Given the description of an element on the screen output the (x, y) to click on. 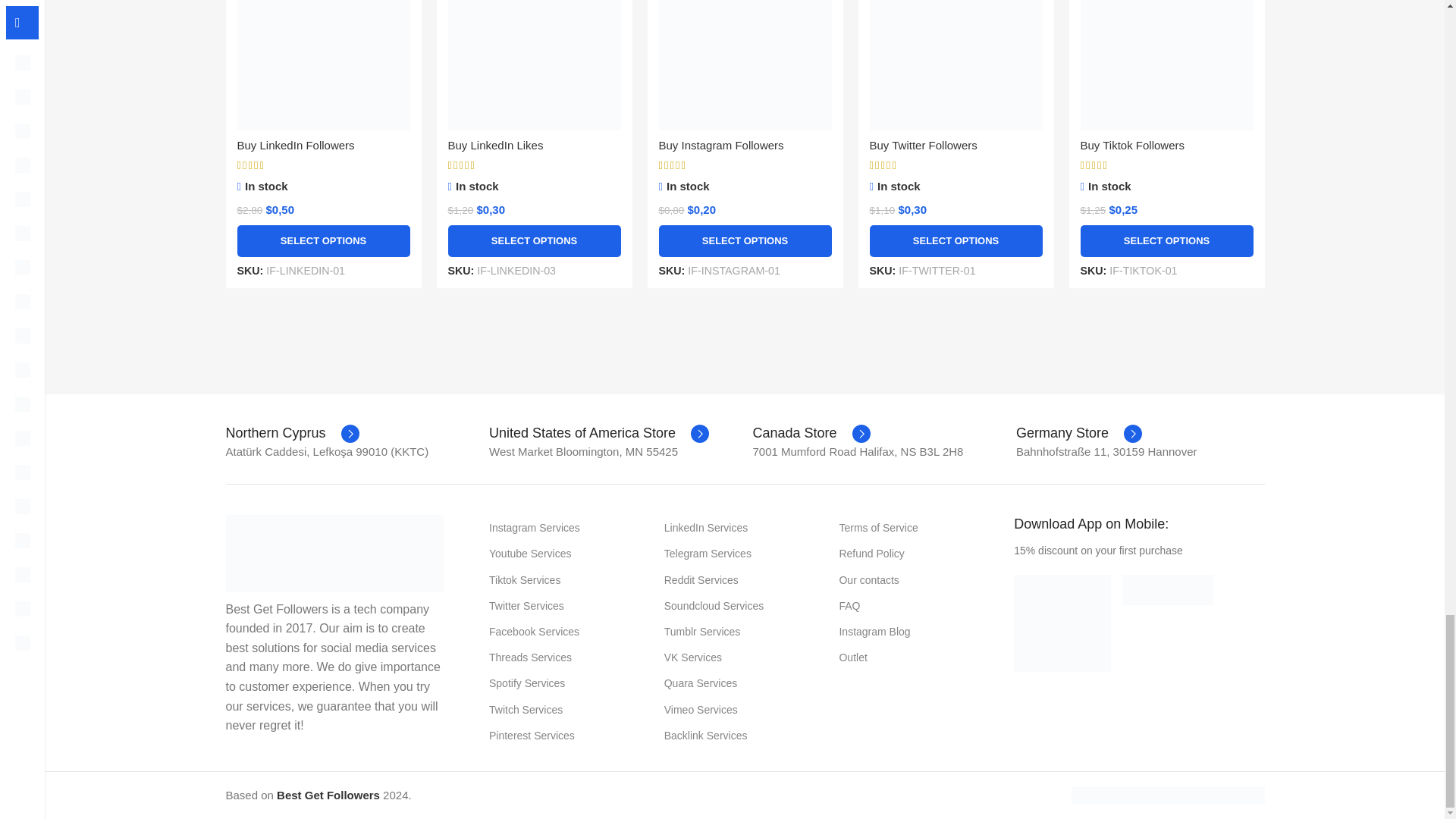
google-play (1061, 622)
app-store (1167, 589)
